Given the description of an element on the screen output the (x, y) to click on. 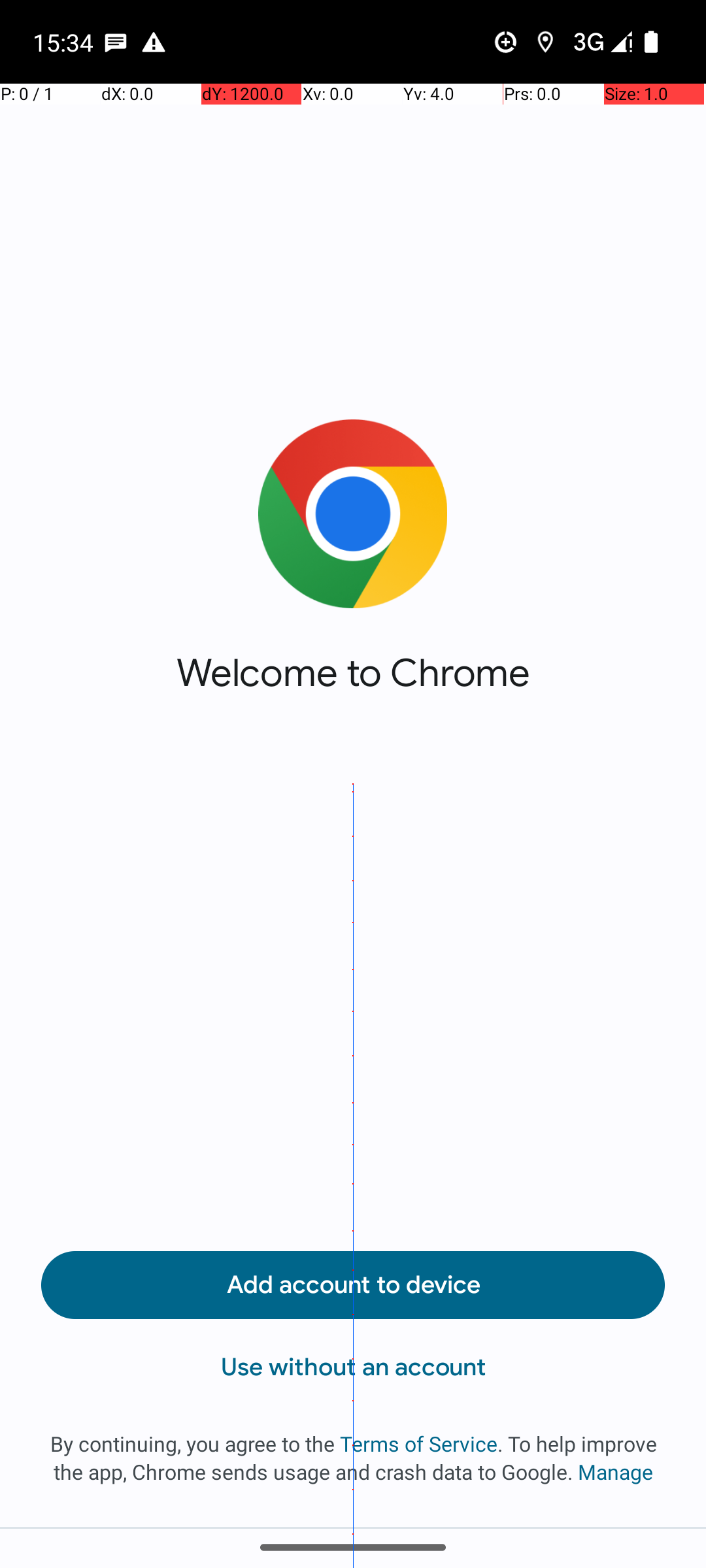
Data Saver is on Element type: android.widget.ImageView (505, 41)
